Given the description of an element on the screen output the (x, y) to click on. 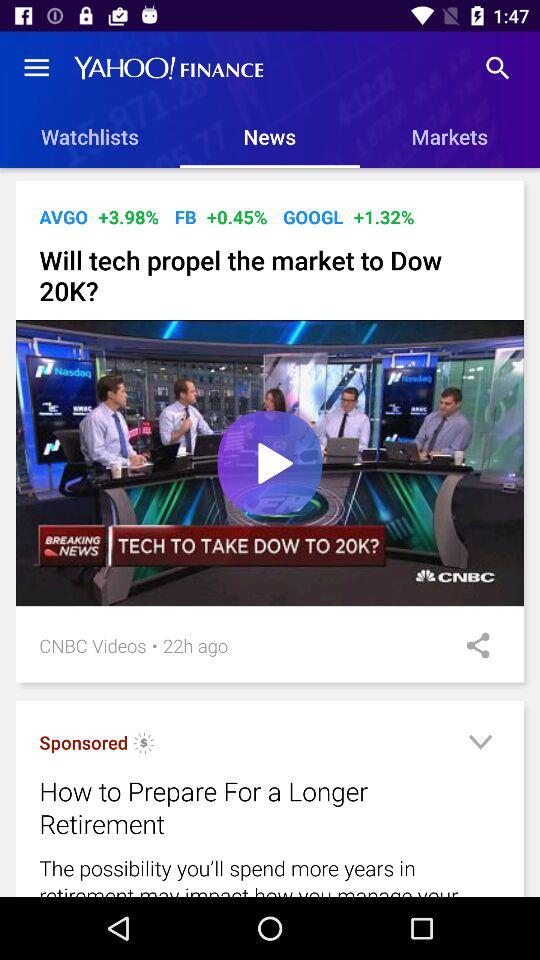
turn on the fb (185, 216)
